Given the description of an element on the screen output the (x, y) to click on. 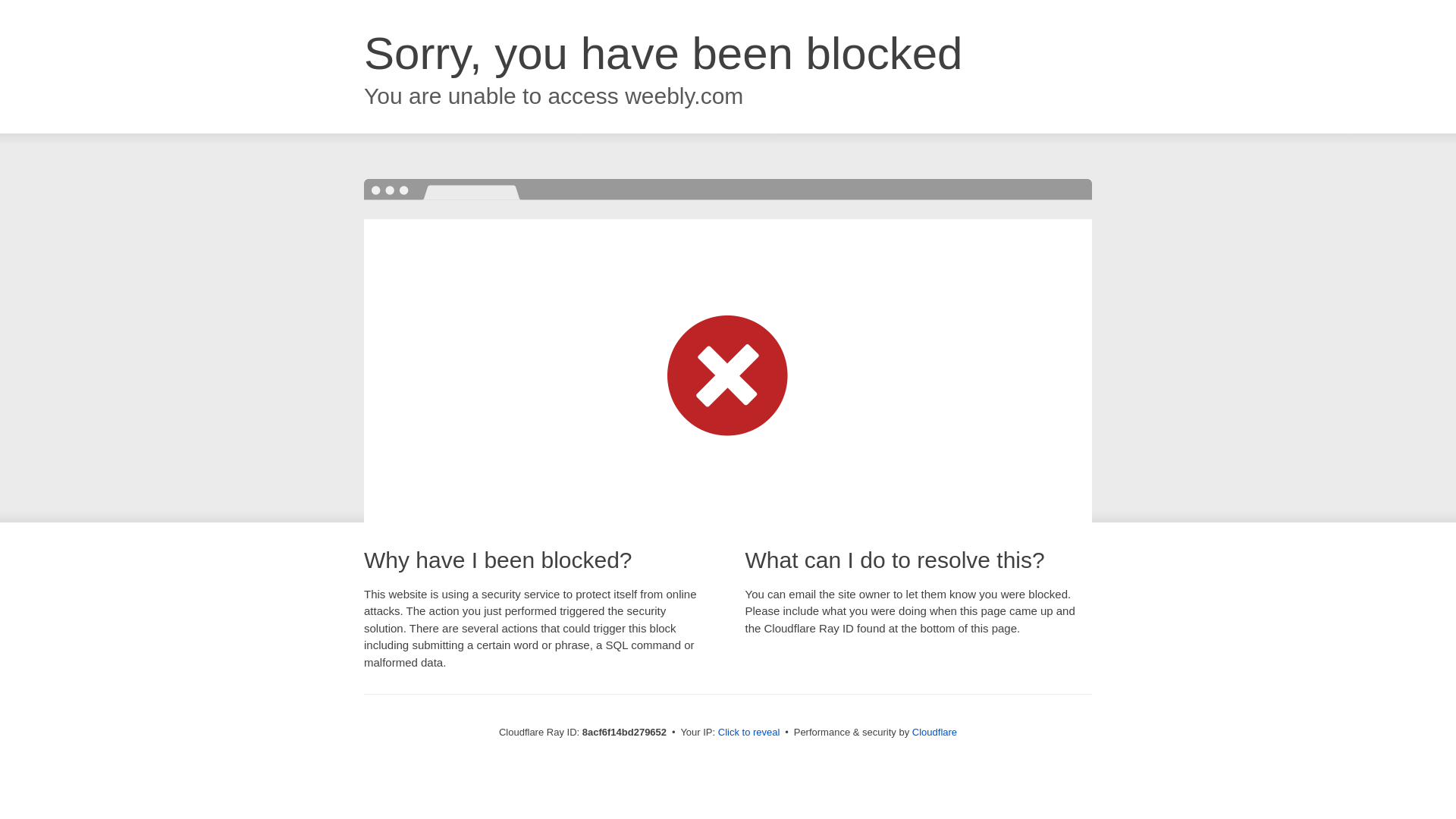
Cloudflare (934, 731)
Click to reveal (748, 732)
